Given the description of an element on the screen output the (x, y) to click on. 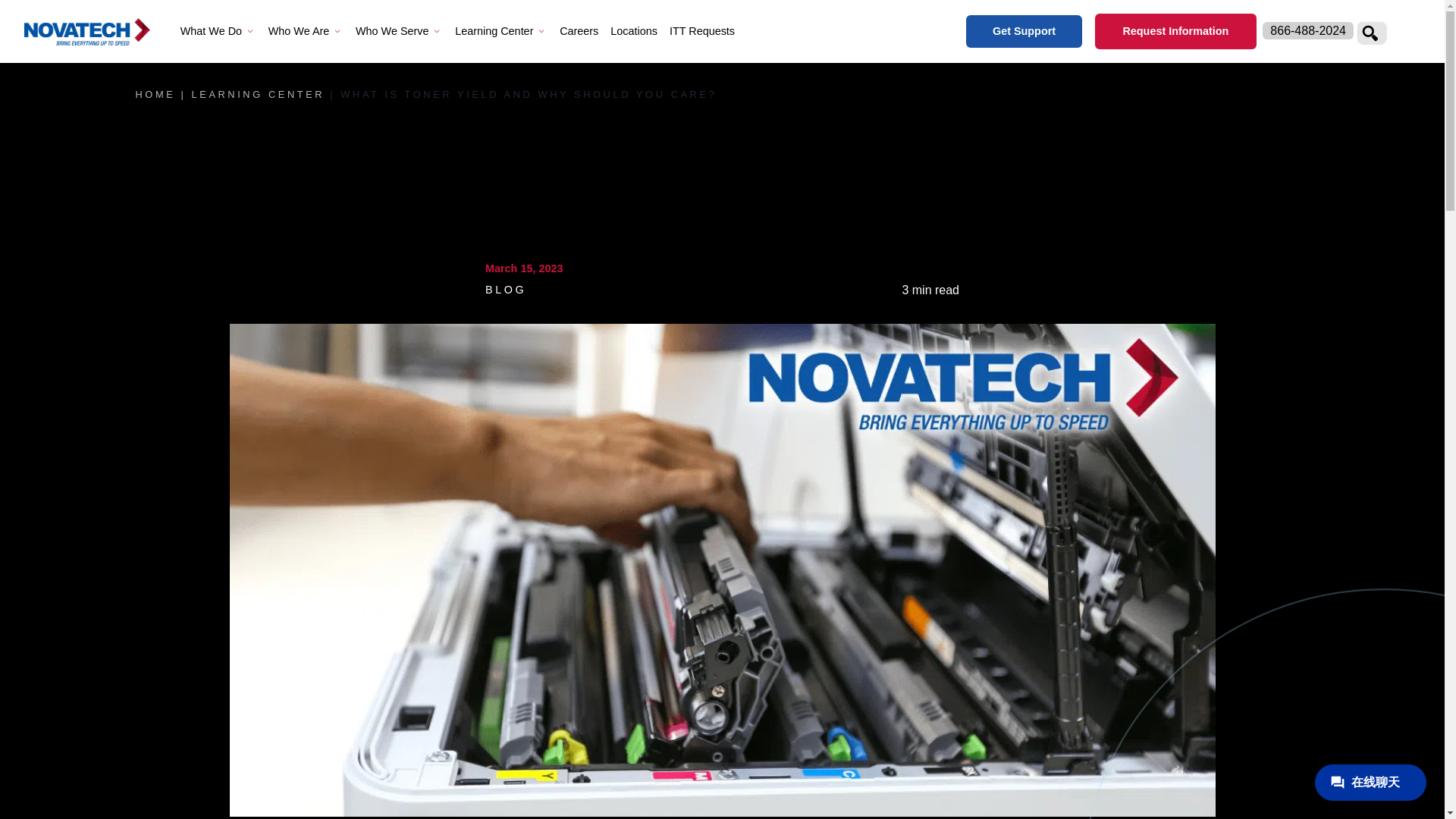
What We Do (218, 31)
